Given the description of an element on the screen output the (x, y) to click on. 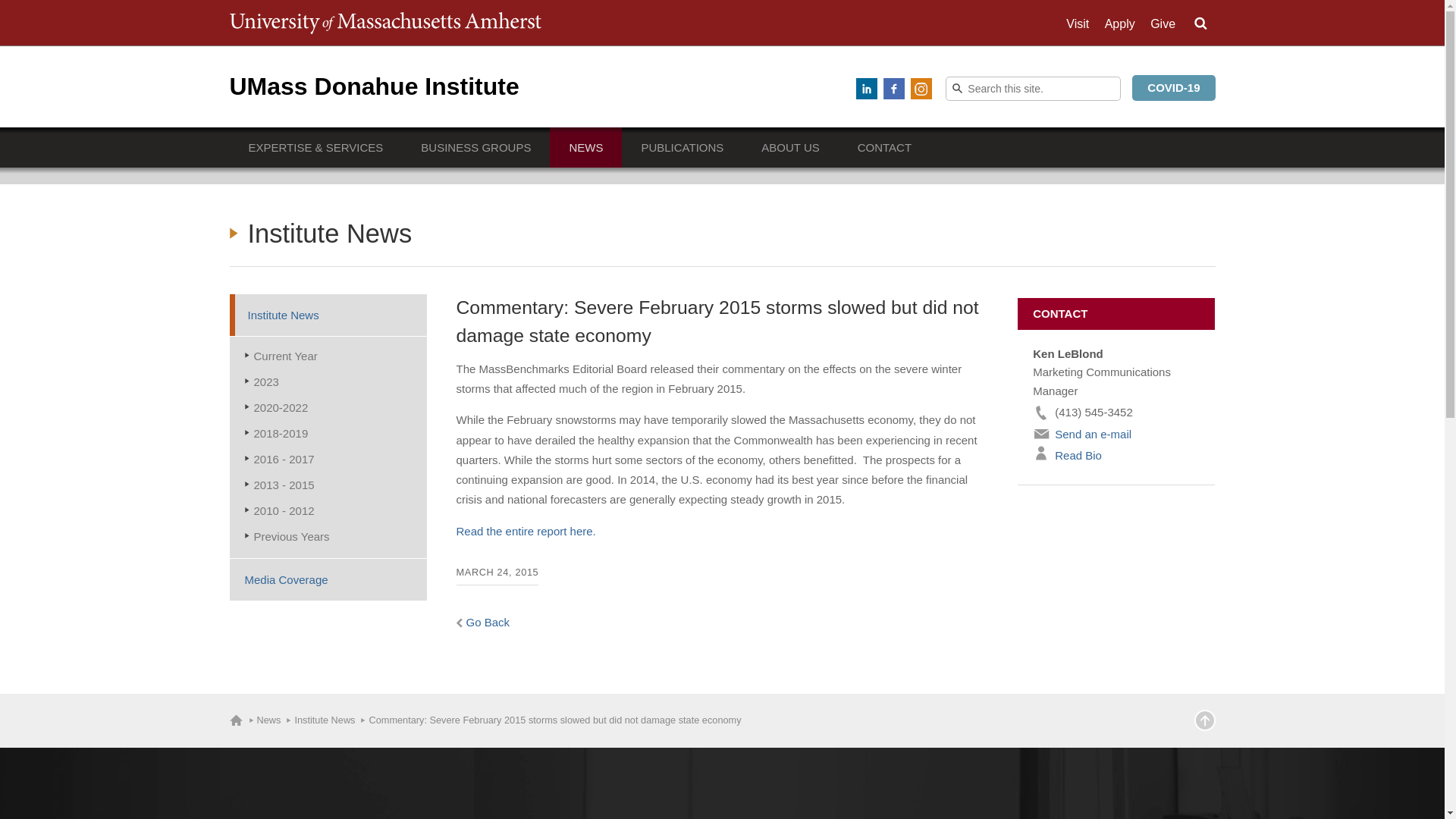
Search UMass.edu (1199, 23)
Facebook (893, 88)
Twitter (839, 88)
LinkedIn (866, 88)
The University of Massachusetts Amherst (384, 22)
UMass Donahue Institute (373, 85)
Apply (1120, 24)
COVID-19 (1173, 87)
Give (1162, 24)
Visit (1077, 24)
UMass Amherst (384, 22)
Instagram (921, 88)
